Given the description of an element on the screen output the (x, y) to click on. 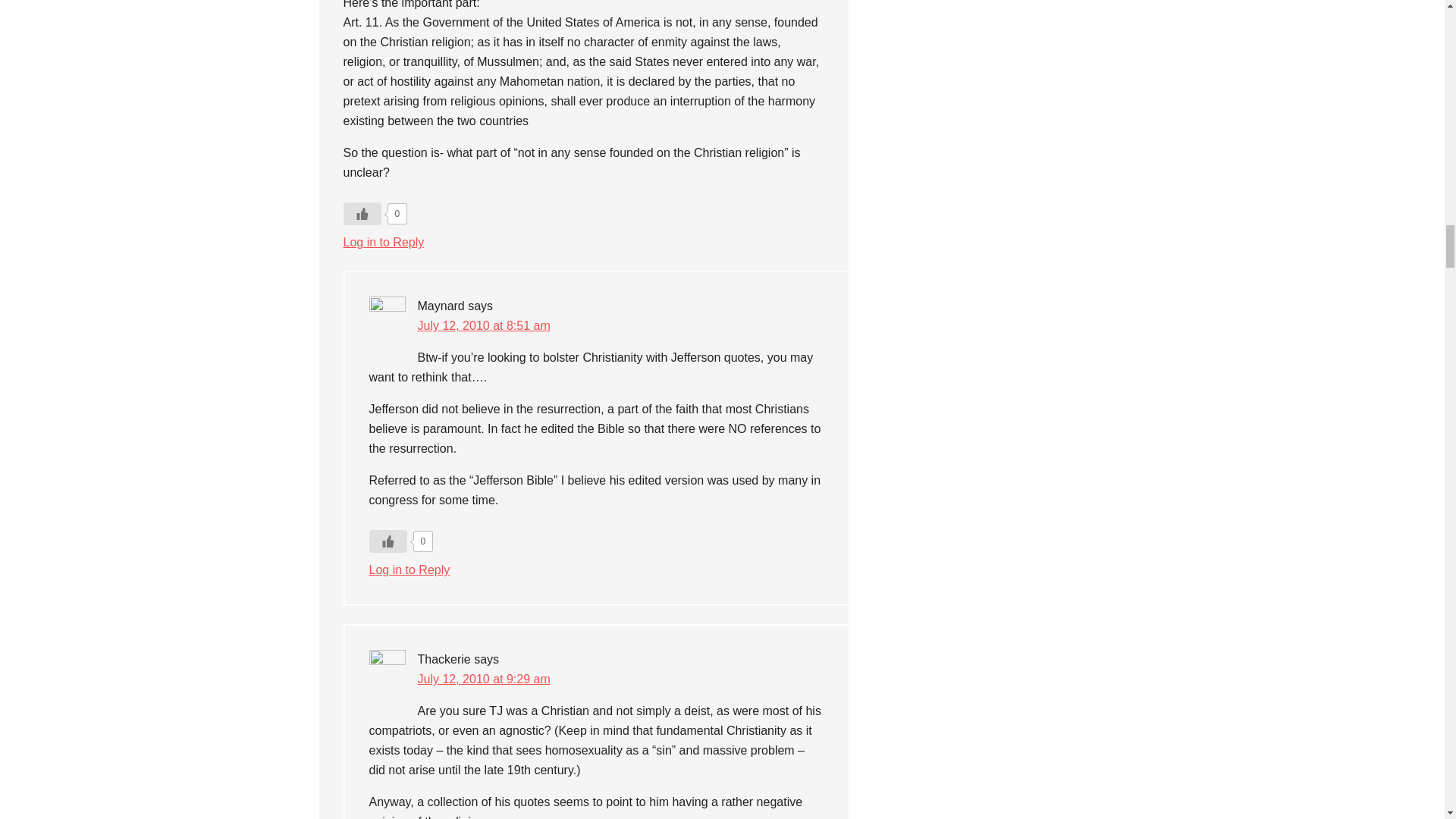
July 12, 2010 at 8:51 am (483, 325)
Log in to Reply (408, 569)
Log in to Reply (382, 241)
